Given the description of an element on the screen output the (x, y) to click on. 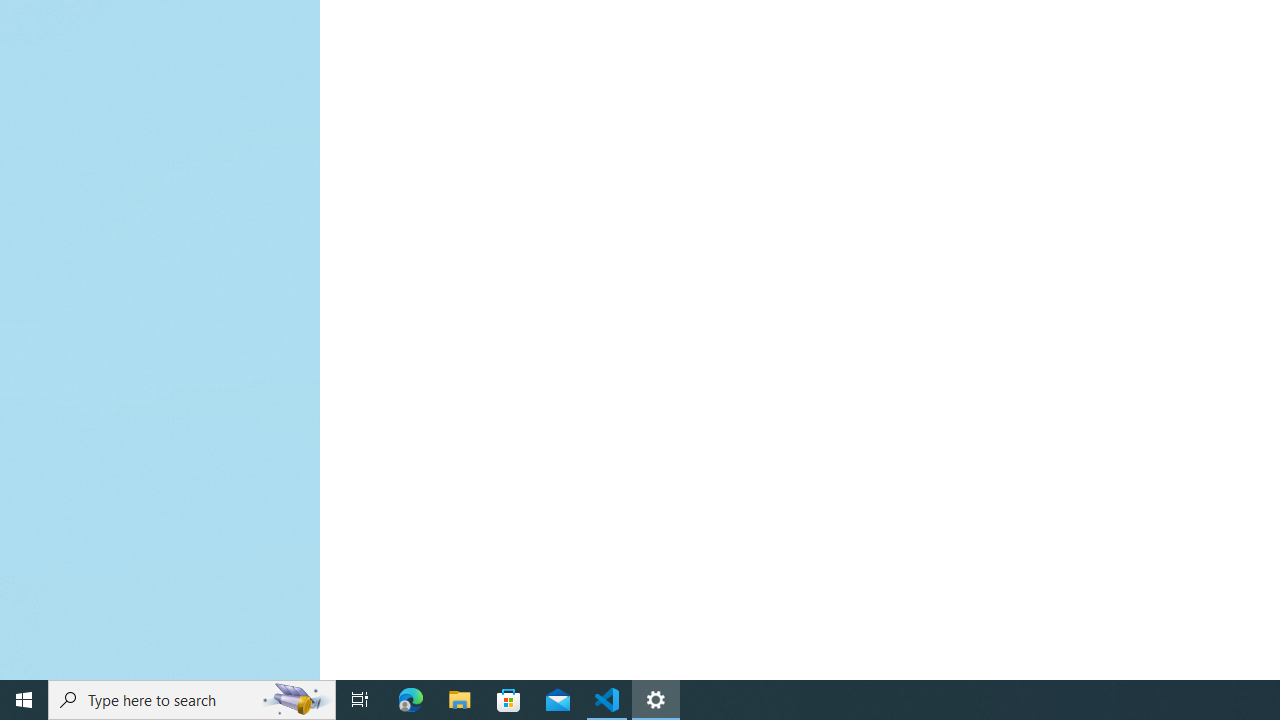
Microsoft Store (509, 699)
Task View (359, 699)
Type here to search (191, 699)
File Explorer (460, 699)
Visual Studio Code - 1 running window (607, 699)
Microsoft Edge (411, 699)
Start (24, 699)
Search highlights icon opens search home window (295, 699)
Settings - 1 running window (656, 699)
